Given the description of an element on the screen output the (x, y) to click on. 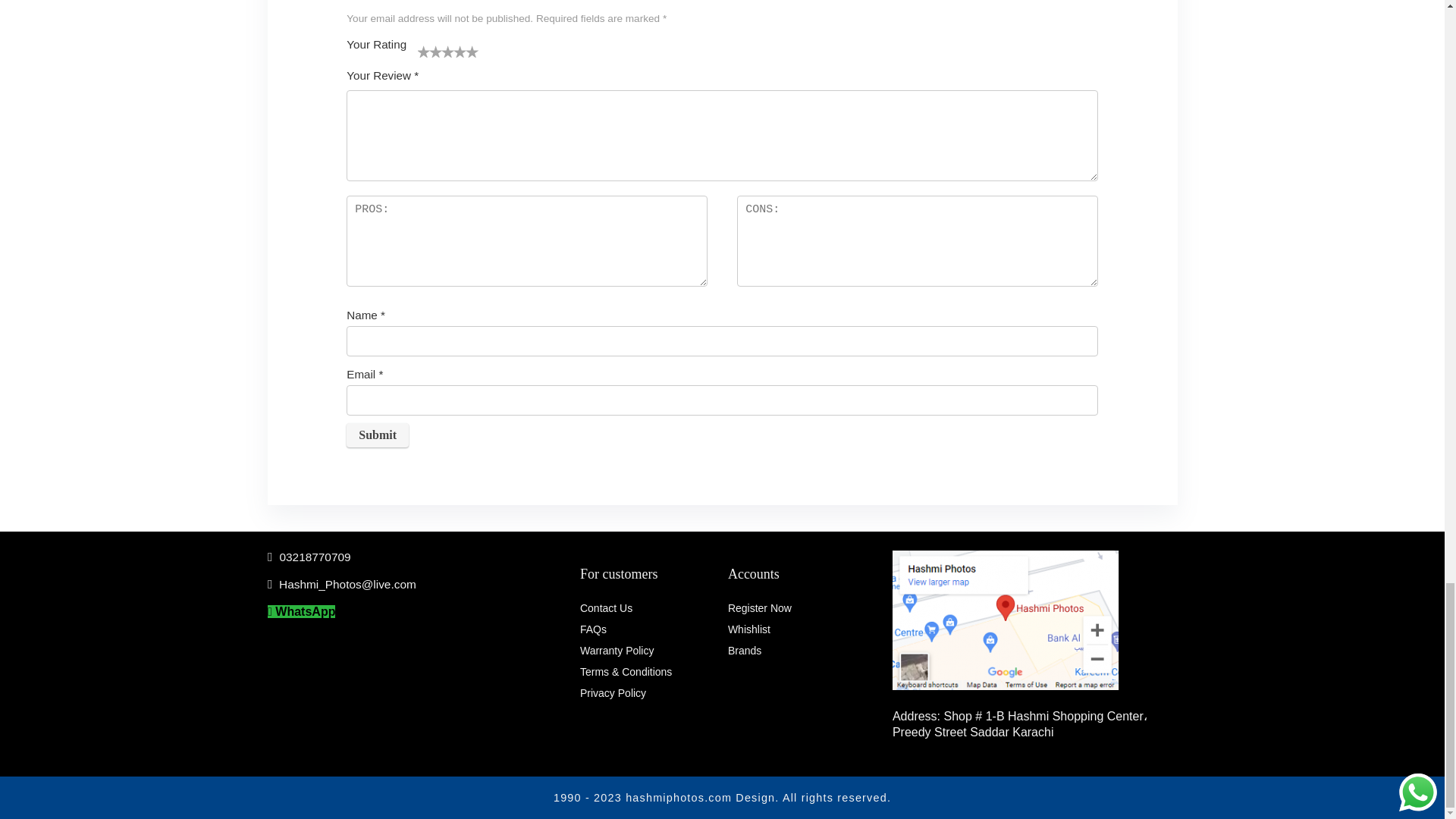
Submit (377, 435)
